Given the description of an element on the screen output the (x, y) to click on. 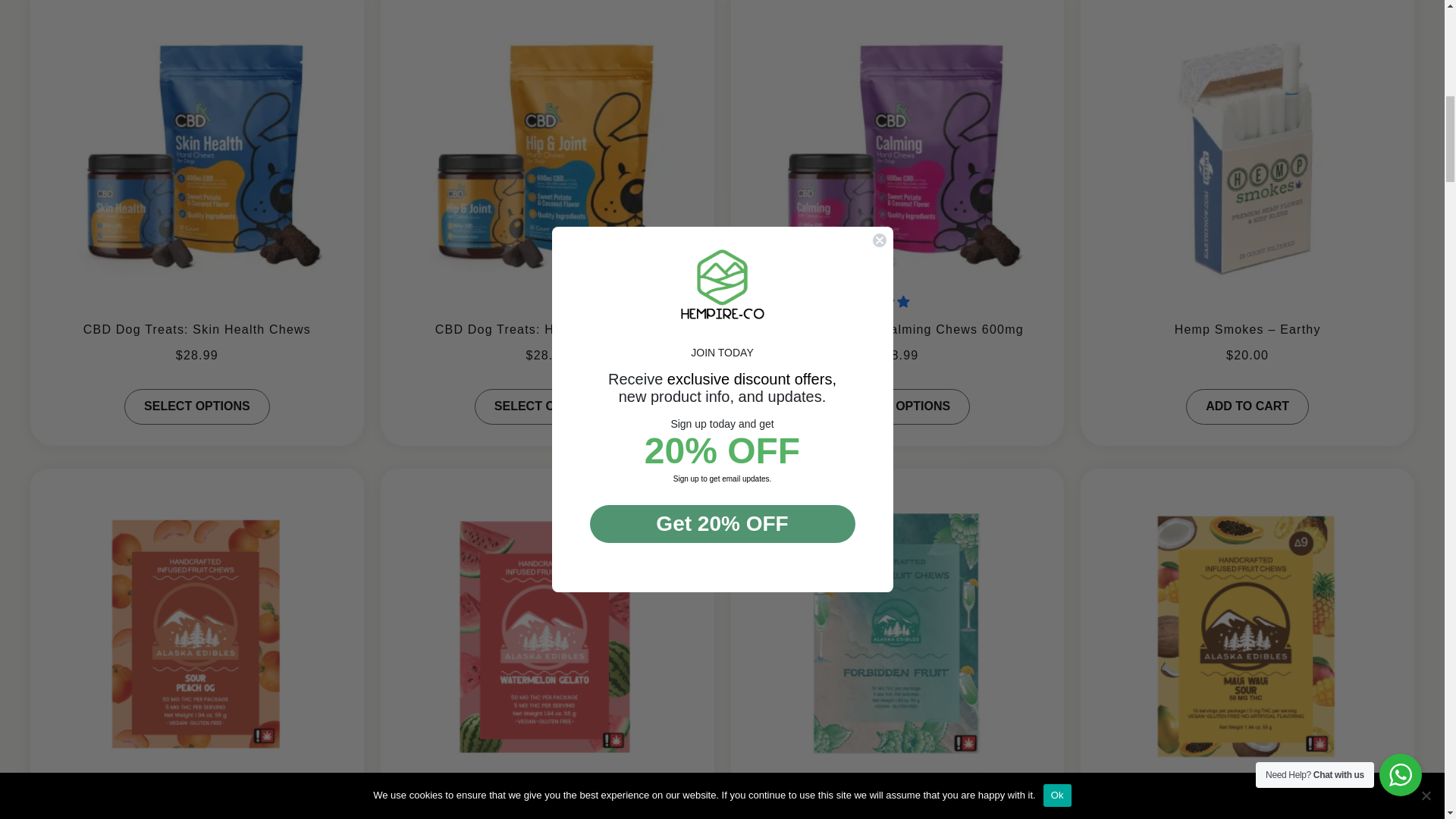
Home 2023 3 (897, 146)
Home 2023 2 (547, 146)
Home 2023 7 (897, 623)
Home 2023 1 (197, 146)
Home 2023 4 (1246, 146)
Home 2023 5 (197, 623)
Home 2023 6 (547, 623)
Home 2023 8 (1246, 623)
